Given the description of an element on the screen output the (x, y) to click on. 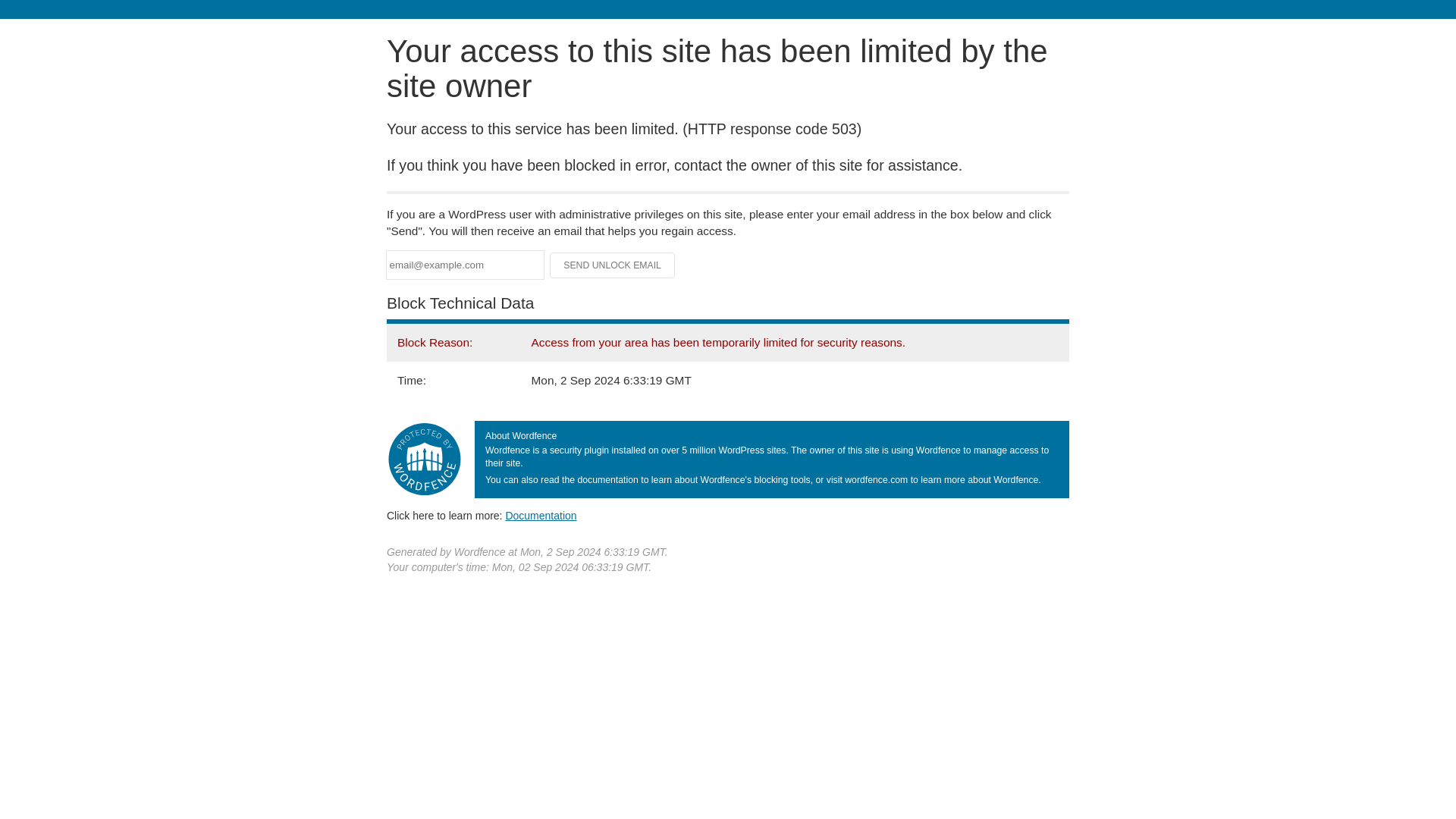
Send Unlock Email (612, 265)
Send Unlock Email (612, 265)
Documentation (540, 515)
